Given the description of an element on the screen output the (x, y) to click on. 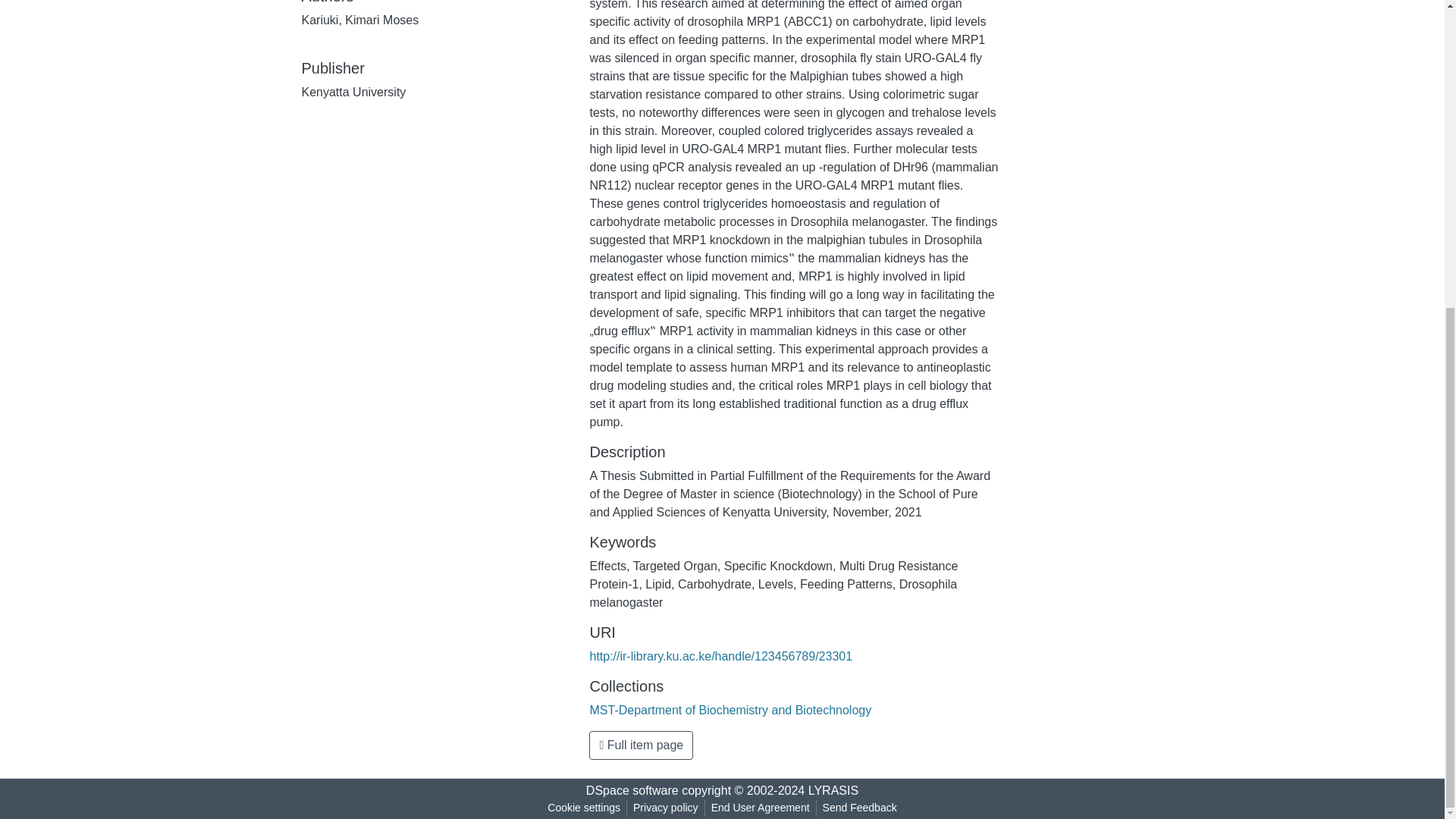
Send Feedback (859, 807)
Privacy policy (665, 807)
DSpace software (632, 789)
Full item page (641, 745)
End User Agreement (759, 807)
MST-Department of Biochemistry and Biotechnology (729, 709)
Cookie settings (583, 807)
LYRASIS (833, 789)
